Given the description of an element on the screen output the (x, y) to click on. 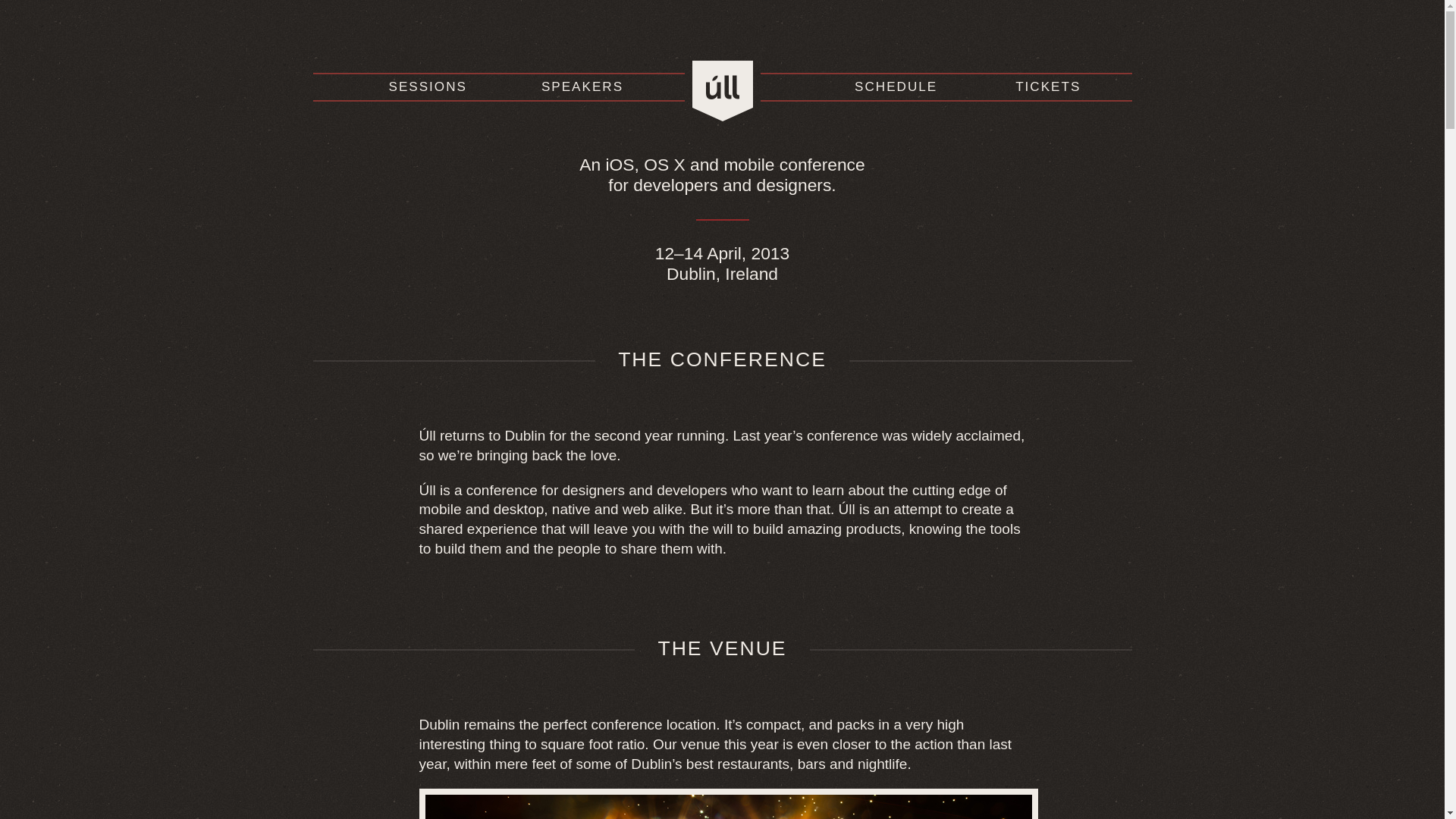
TICKETS (1047, 86)
acclaimed (987, 435)
SCHEDULE (895, 86)
widely (931, 435)
SESSIONS (426, 86)
SPEAKERS (582, 86)
